Given the description of an element on the screen output the (x, y) to click on. 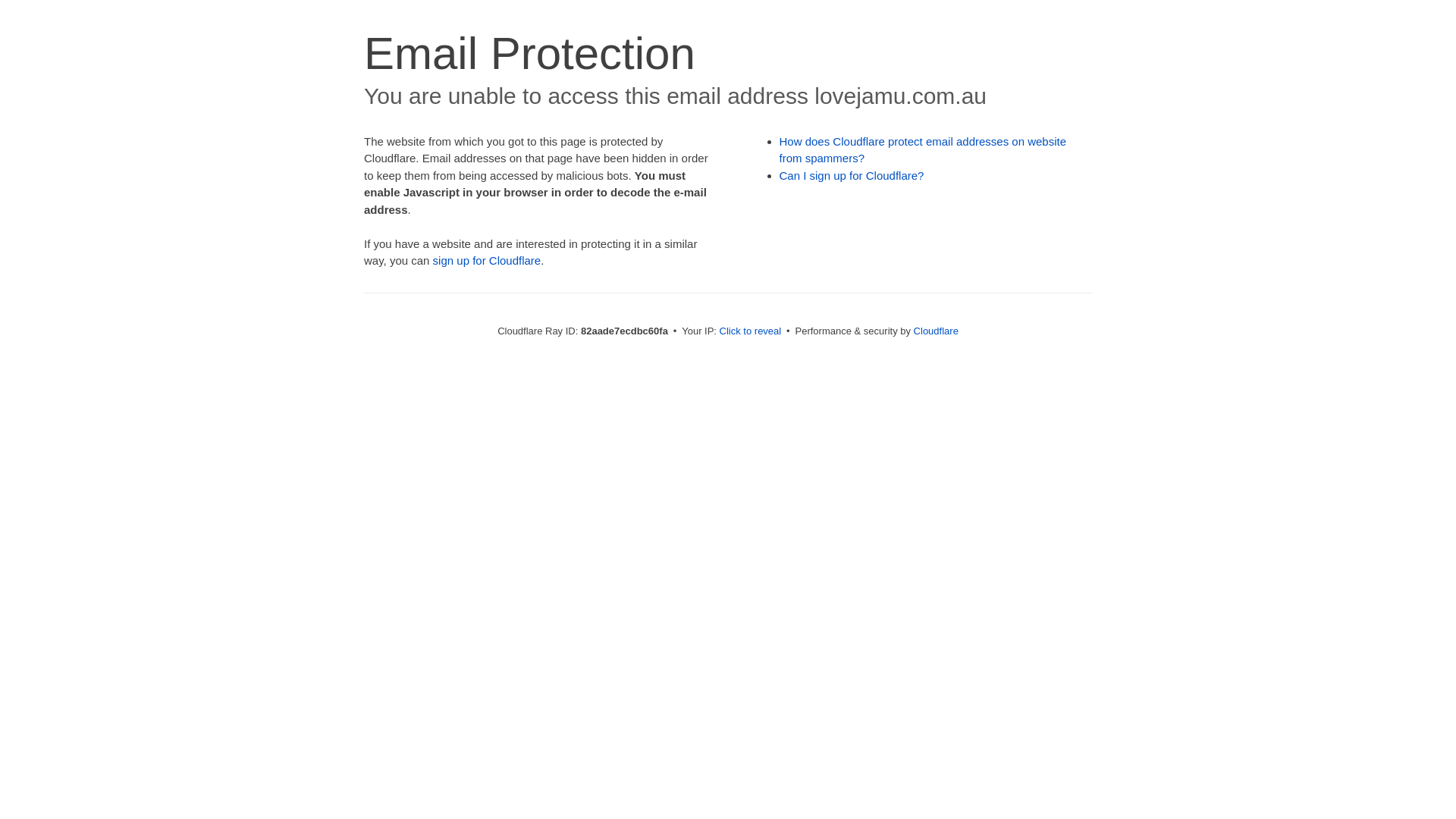
Click to reveal Element type: text (750, 330)
Cloudflare Element type: text (935, 330)
Can I sign up for Cloudflare? Element type: text (851, 175)
sign up for Cloudflare Element type: text (487, 260)
